Given the description of an element on the screen output the (x, y) to click on. 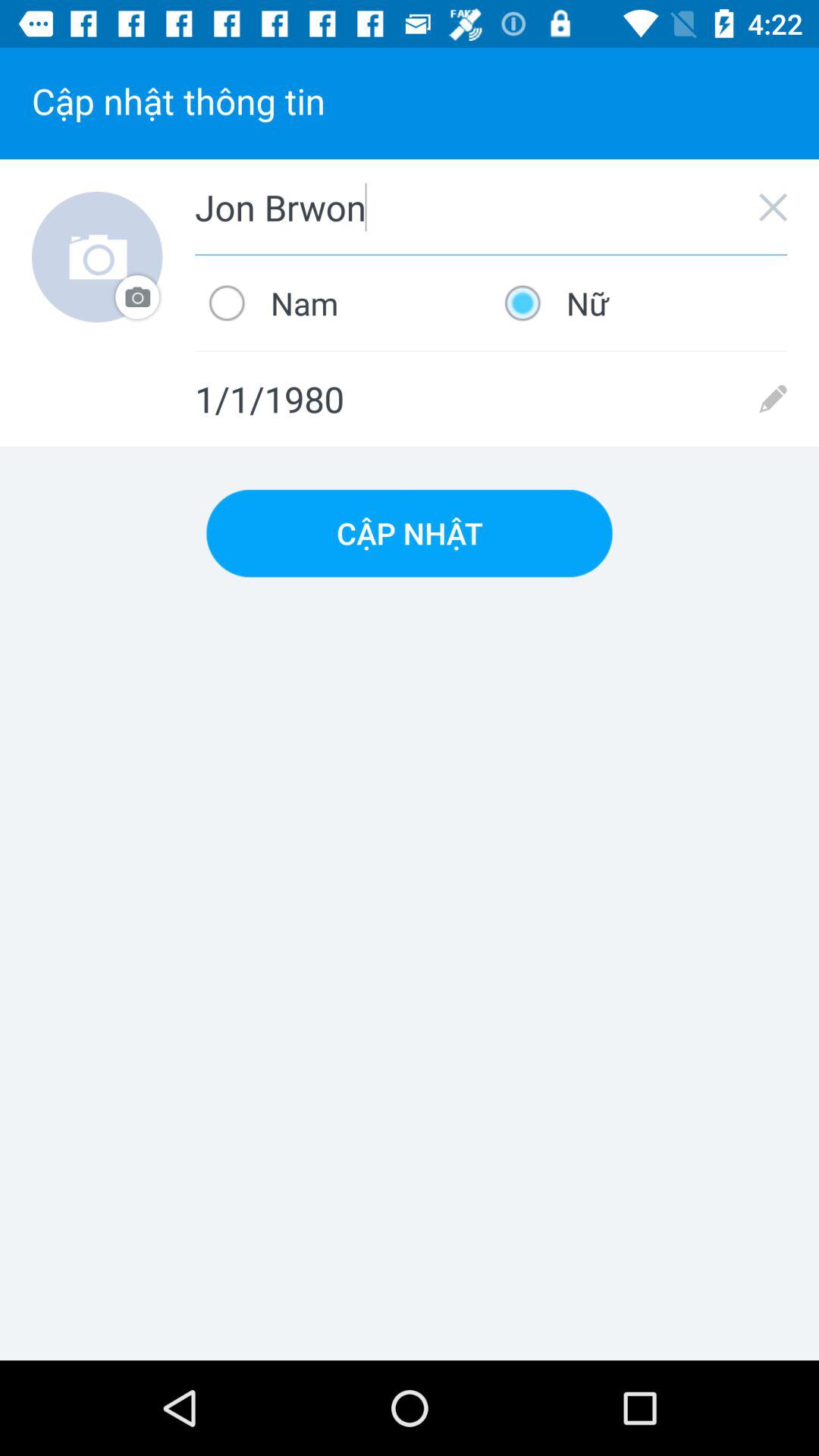
scroll to 1/1/1980  icon (491, 399)
